Given the description of an element on the screen output the (x, y) to click on. 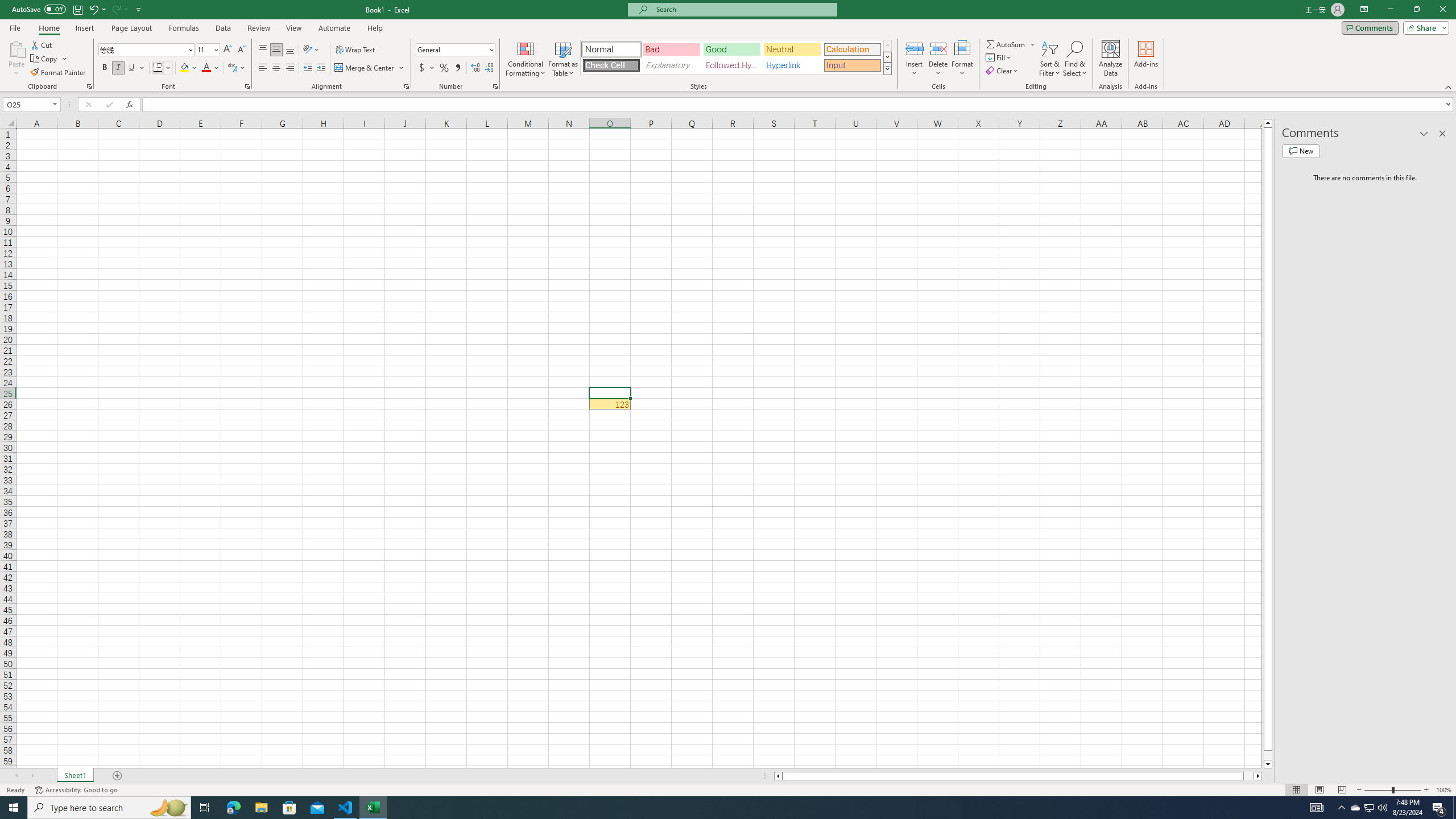
Find & Select (1075, 58)
Fill (999, 56)
Decrease Font Size (240, 49)
Cut (42, 44)
Middle Align (276, 49)
Cell Styles (887, 68)
Good (731, 49)
Show Phonetic Field (231, 67)
Top Align (262, 49)
Font Size (204, 49)
Font Color (210, 67)
